Given the description of an element on the screen output the (x, y) to click on. 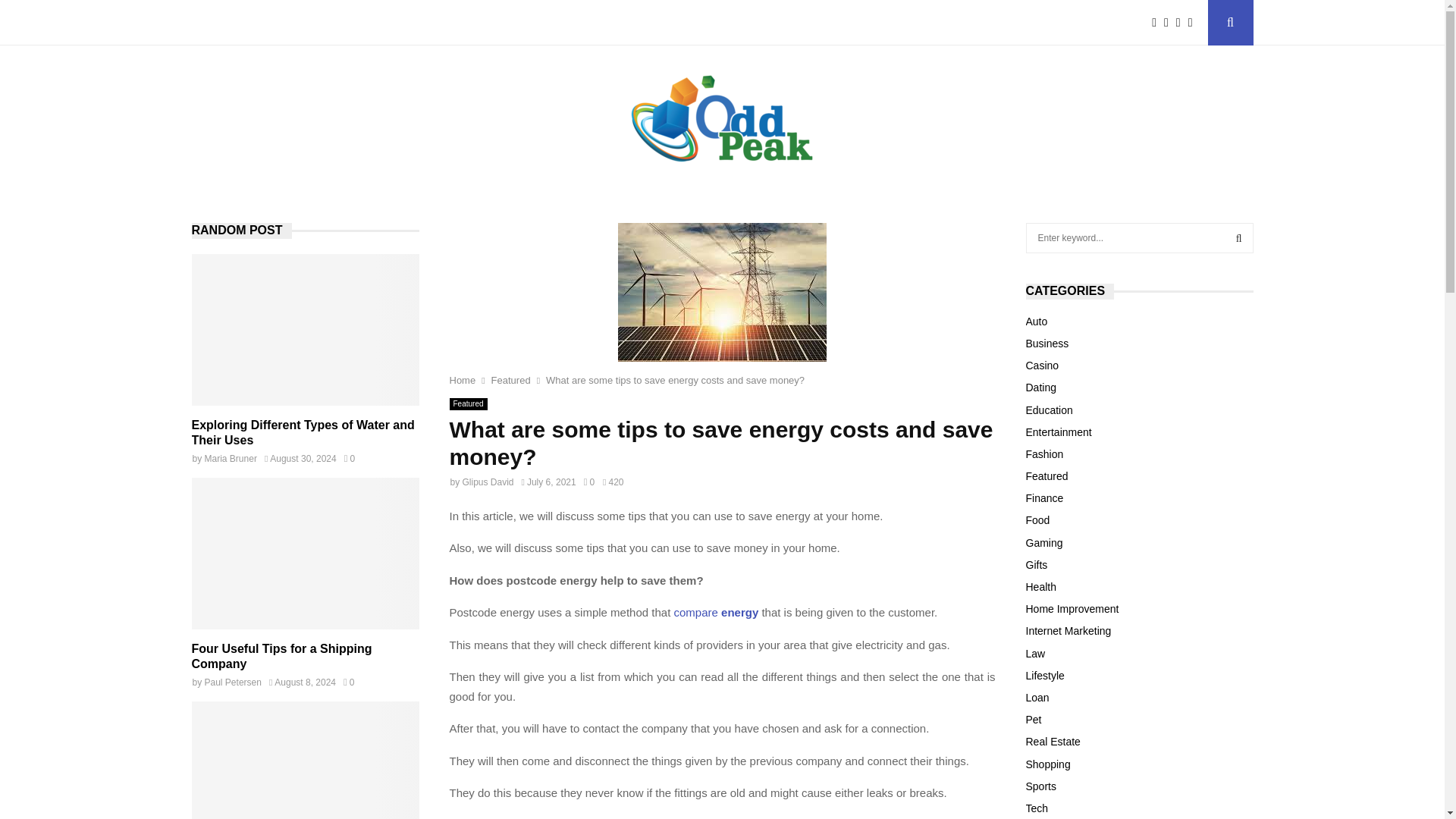
Featured (467, 404)
 Exploring Different Types of Water and Their Uses  (301, 432)
compare energy  (717, 612)
BUSINESS (287, 22)
HEALTH (359, 22)
TECH (419, 22)
What are some tips to save energy costs and save money? (675, 379)
Exploring Different Types of Water and Their Uses (304, 329)
Maria Bruner (231, 458)
SHOPPING (485, 22)
